Given the description of an element on the screen output the (x, y) to click on. 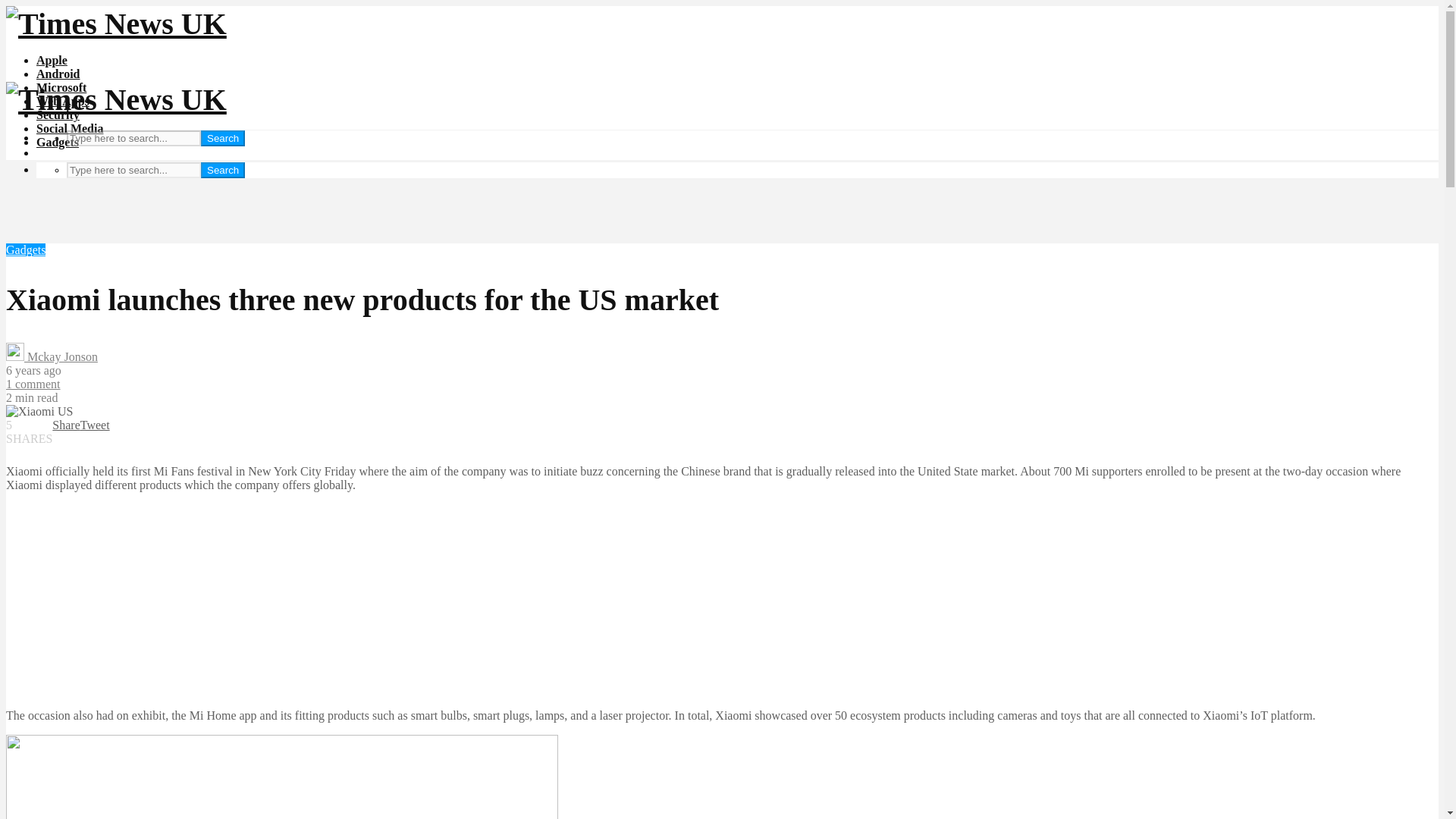
Search (222, 170)
1 comment (33, 383)
Tweet (95, 424)
Share (66, 424)
Mckay Jonson (51, 356)
Search (222, 138)
Gadgets (25, 249)
